Given the description of an element on the screen output the (x, y) to click on. 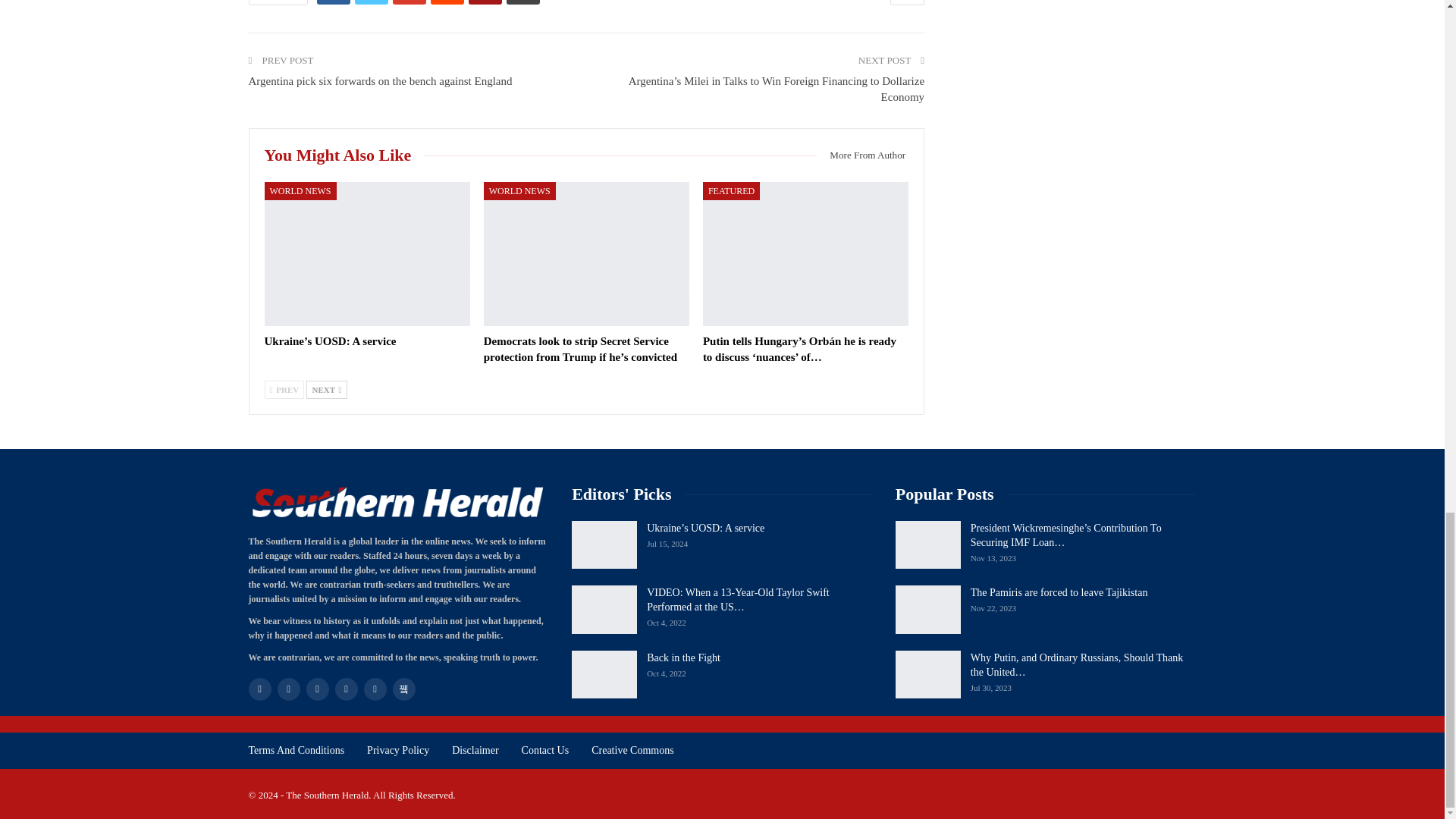
Previous (283, 389)
Next (325, 389)
